Given the description of an element on the screen output the (x, y) to click on. 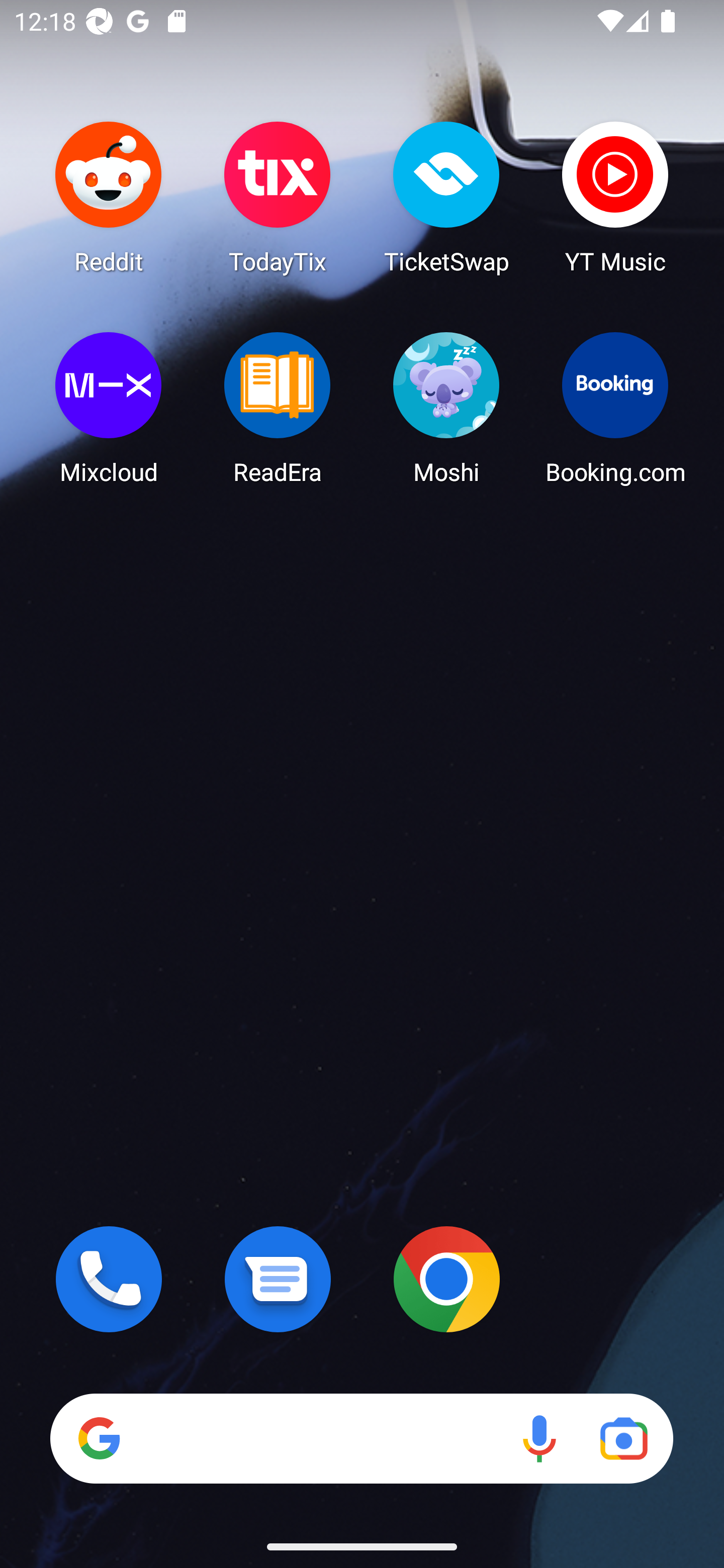
Reddit (108, 196)
TodayTix (277, 196)
TicketSwap (445, 196)
YT Music (615, 196)
Mixcloud (108, 407)
ReadEra (277, 407)
Moshi (445, 407)
Booking.com (615, 407)
Phone (108, 1279)
Messages (277, 1279)
Chrome (446, 1279)
Search Voice search Google Lens (361, 1438)
Voice search (539, 1438)
Google Lens (623, 1438)
